Given the description of an element on the screen output the (x, y) to click on. 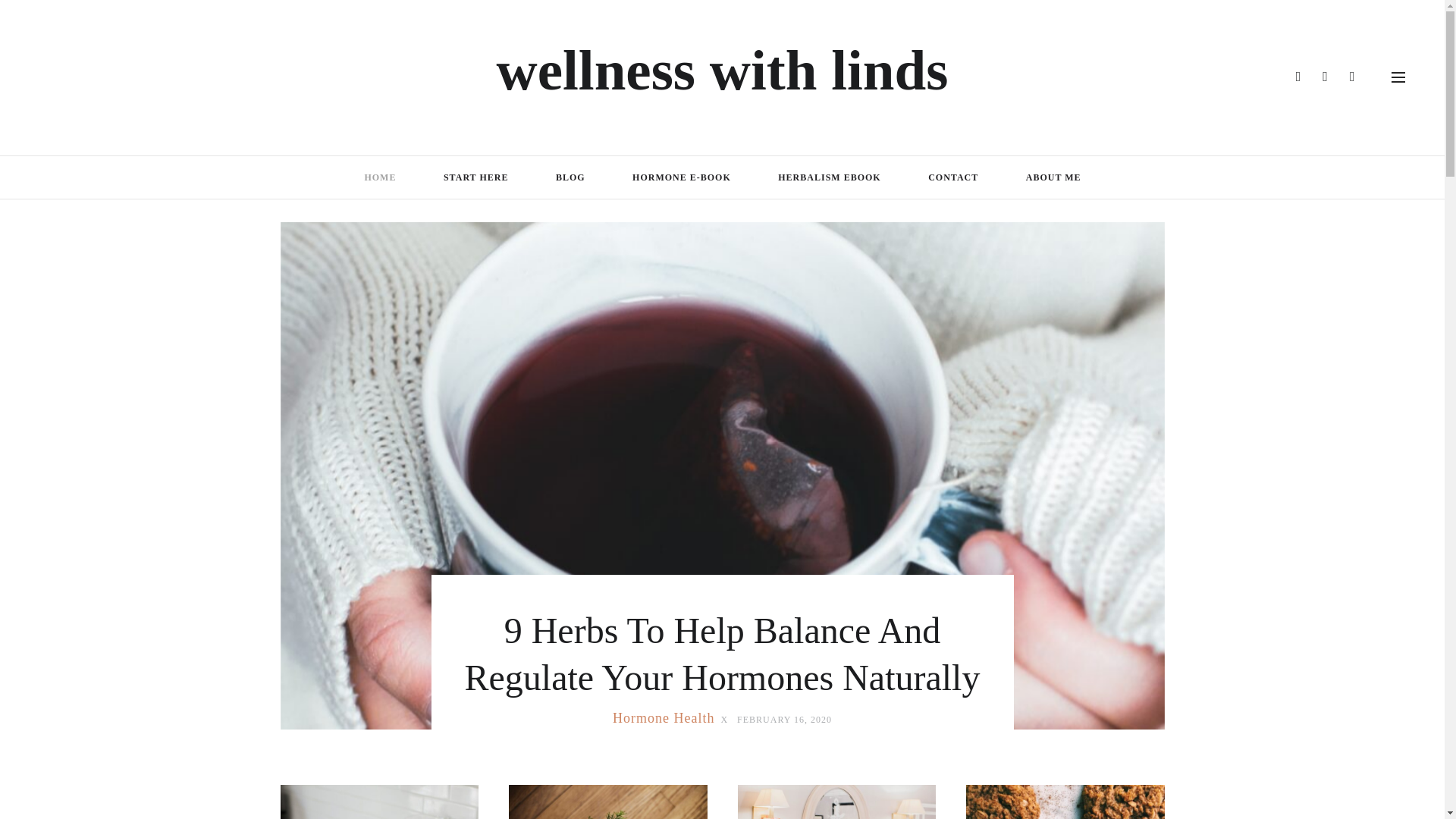
ABOUT ME (1053, 177)
BLOG (569, 177)
START HERE (475, 177)
wellness with linds (721, 69)
HERBALISM EBOOK (828, 177)
HORMONE E-BOOK (681, 177)
CONTACT (952, 177)
HOME (378, 177)
